Given the description of an element on the screen output the (x, y) to click on. 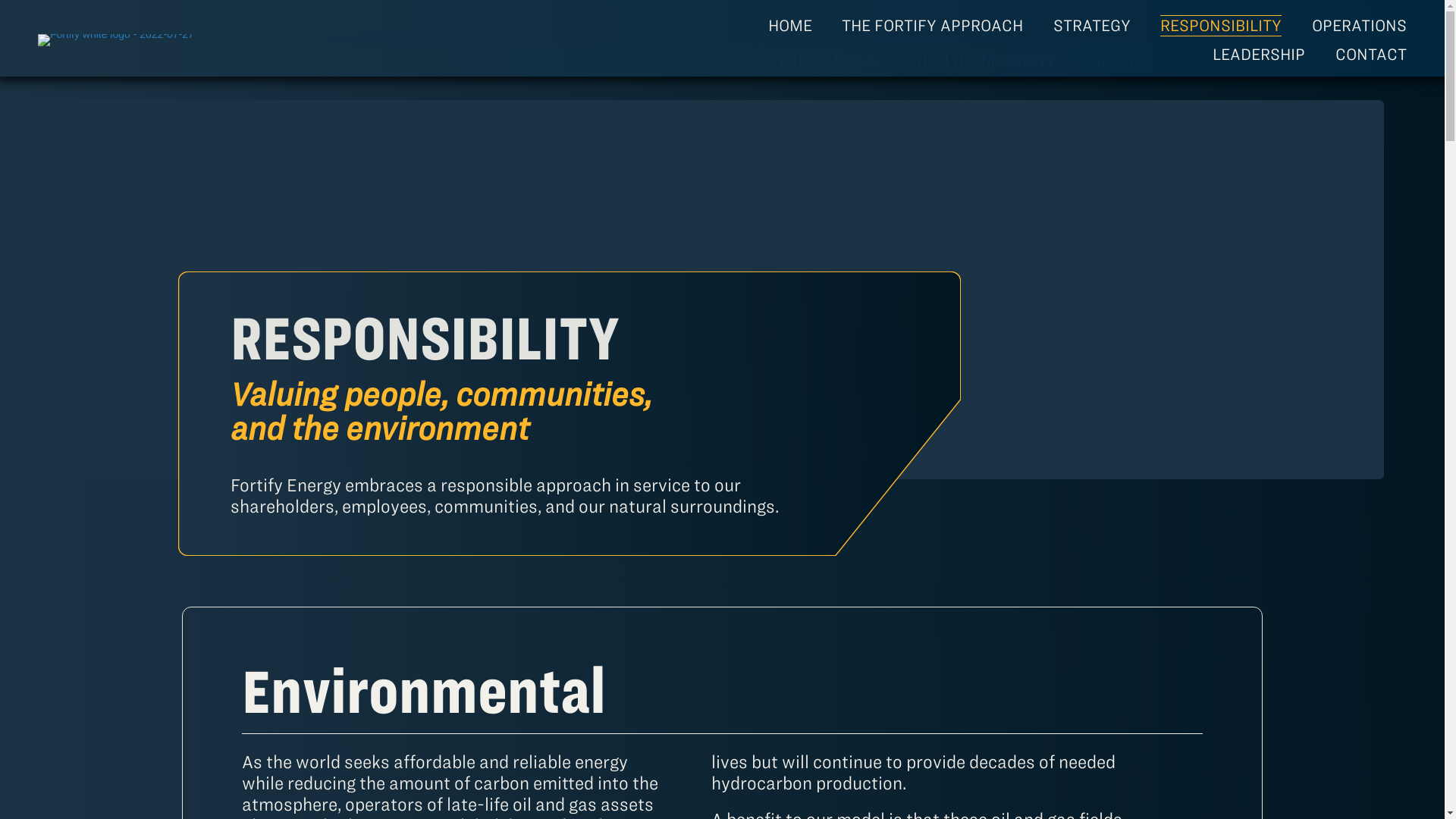
SOCIAL (1116, 60)
HOME (791, 25)
OPERATIONS (1360, 25)
Fortify white logo - 2022-07-27 (115, 39)
ENVIRONMENTAL (822, 61)
CONTACT (1372, 54)
RESPONSIBILITY (1222, 25)
HEALTH AND SAFETY (986, 60)
STRATEGY (1093, 25)
LEADERSHIP (1259, 54)
THE FORTIFY APPROACH (934, 25)
